Given the description of an element on the screen output the (x, y) to click on. 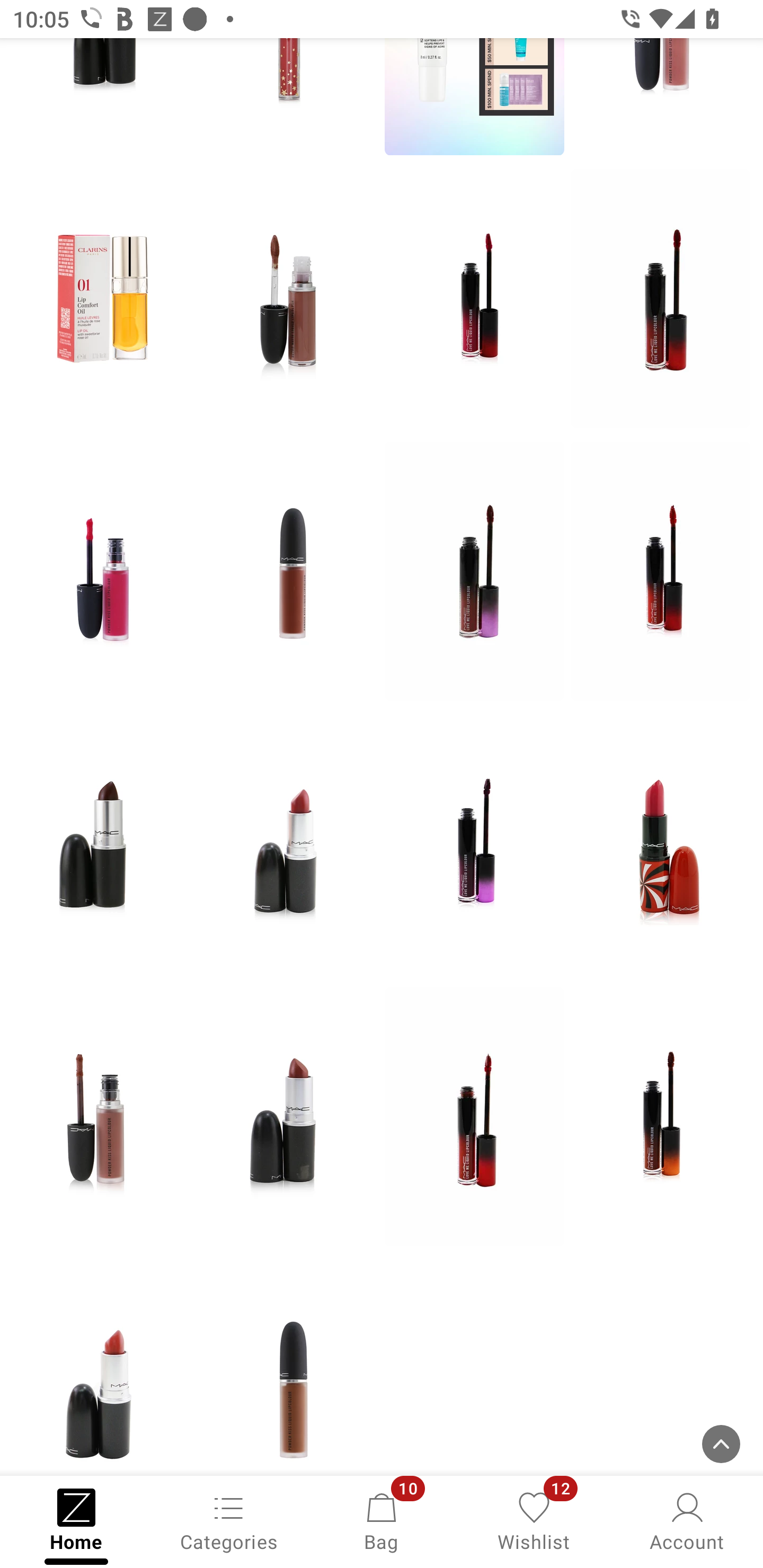
Categories (228, 1519)
Bag, 10 new notifications Bag (381, 1519)
Wishlist, 12 new notifications Wishlist (533, 1519)
Account (686, 1519)
